Given the description of an element on the screen output the (x, y) to click on. 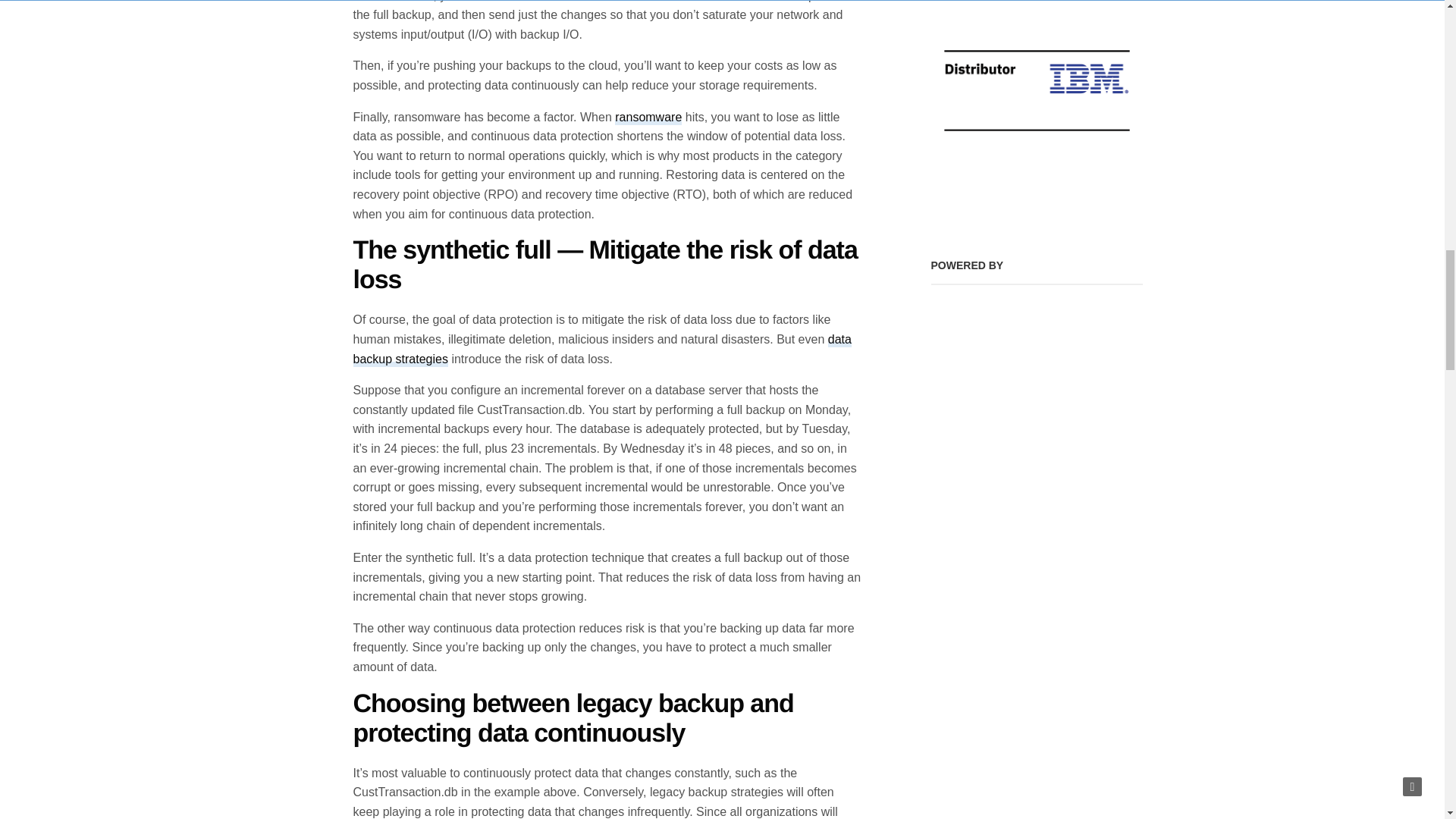
ransomware (647, 117)
